Given the description of an element on the screen output the (x, y) to click on. 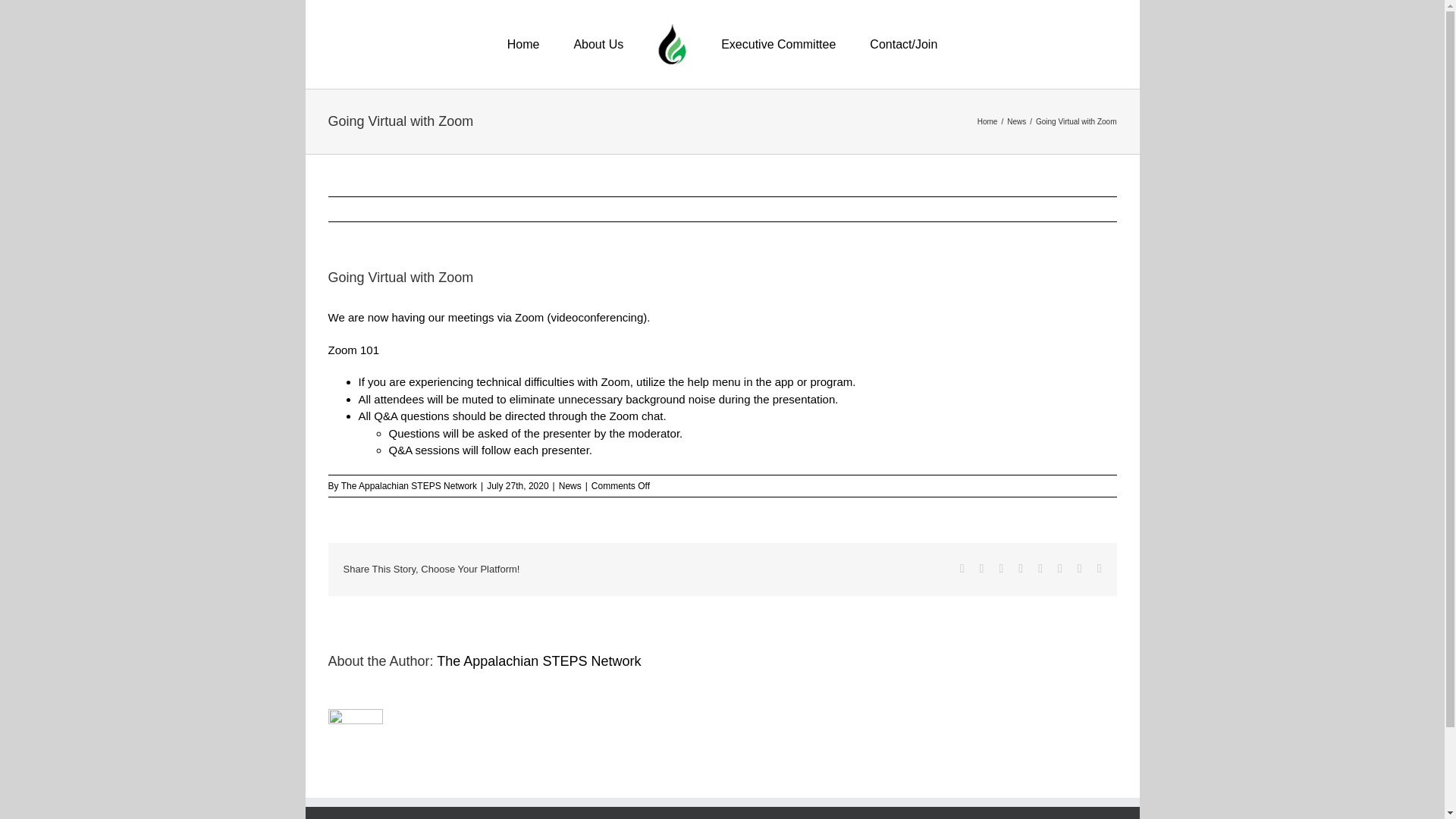
LinkedIn (1000, 568)
The Appalachian STEPS Network (408, 485)
Facebook (961, 568)
News (1016, 121)
Vk (1079, 568)
Home (986, 121)
About Us (598, 44)
Posts by The Appalachian STEPS Network (408, 485)
Executive Committee (777, 44)
Pinterest (1060, 568)
Twitter (981, 568)
Home (523, 44)
Email (1099, 568)
Tumblr (1040, 568)
The Appalachian STEPS Network (538, 661)
